Given the description of an element on the screen output the (x, y) to click on. 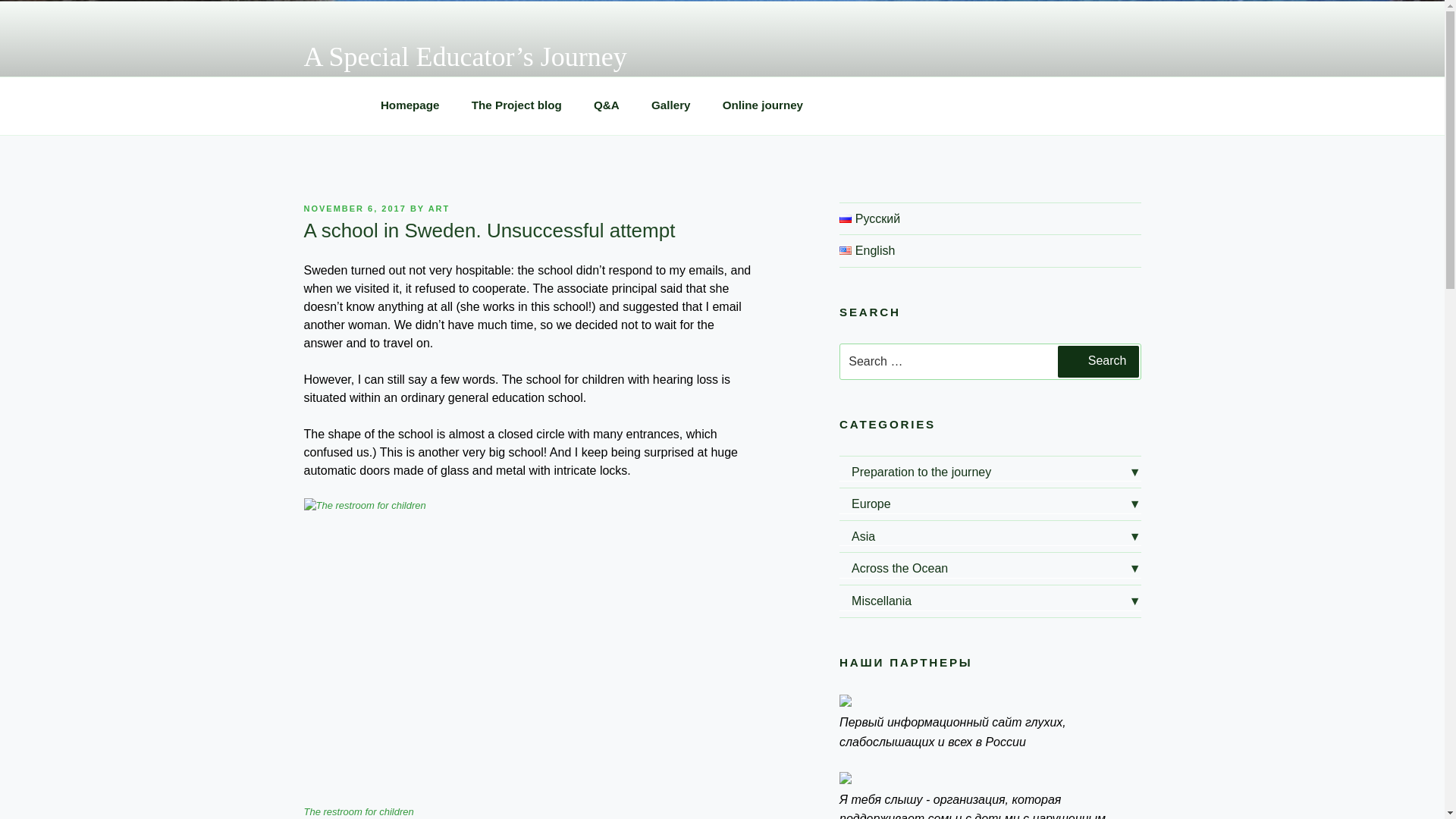
View all posts filed under Preparation to the journey (990, 472)
Across the Ocean (990, 568)
Asia (990, 537)
Gallery (670, 105)
English (867, 250)
Search (1098, 361)
English (845, 250)
Preparation to the journey (990, 472)
NOVEMBER 6, 2017 (354, 207)
